Given the description of an element on the screen output the (x, y) to click on. 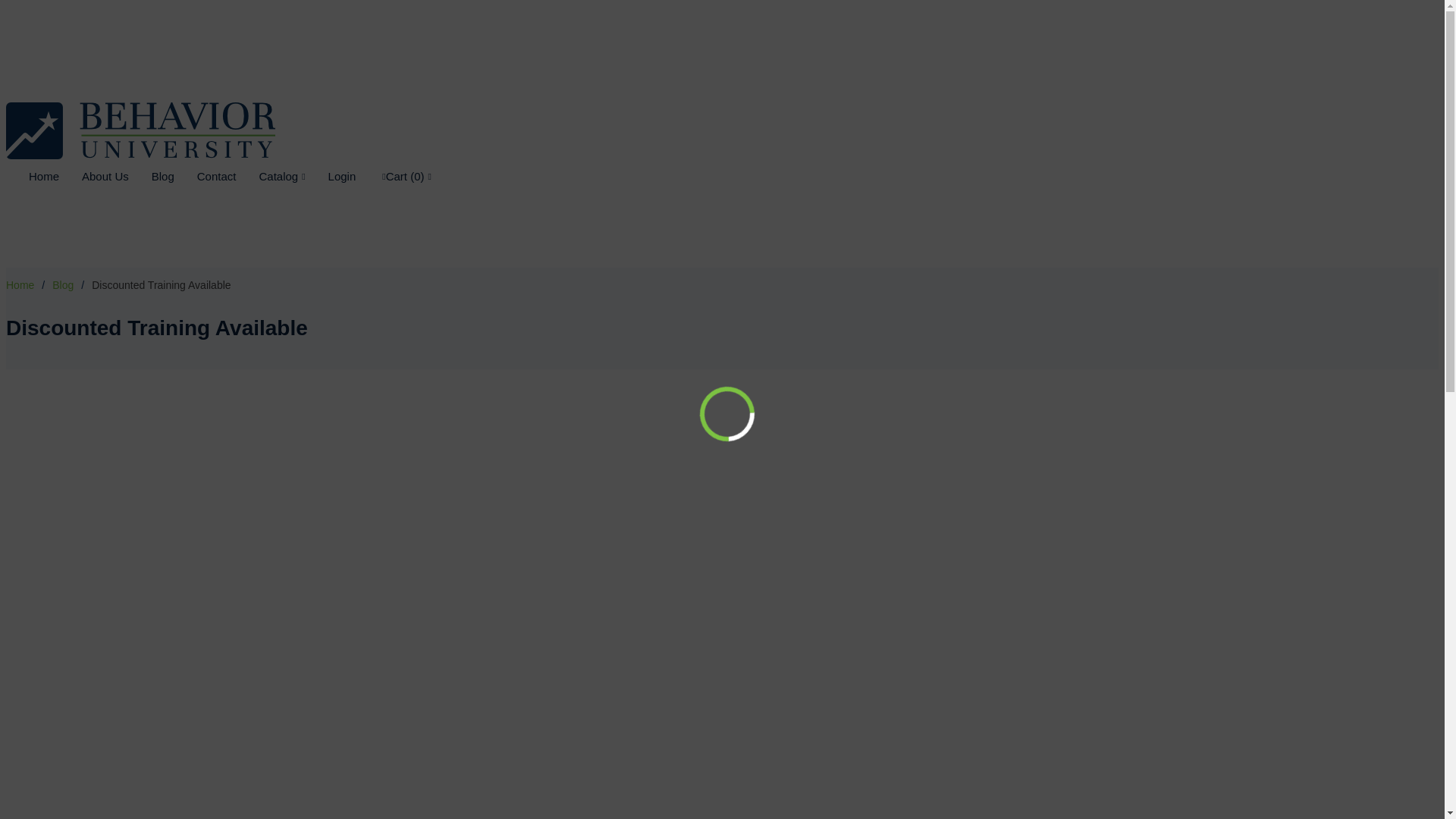
Home (32, 176)
Contact (204, 176)
Catalog (269, 176)
Home (19, 285)
Login (330, 176)
Blog (63, 285)
About Us (94, 176)
Blog (151, 176)
